Given the description of an element on the screen output the (x, y) to click on. 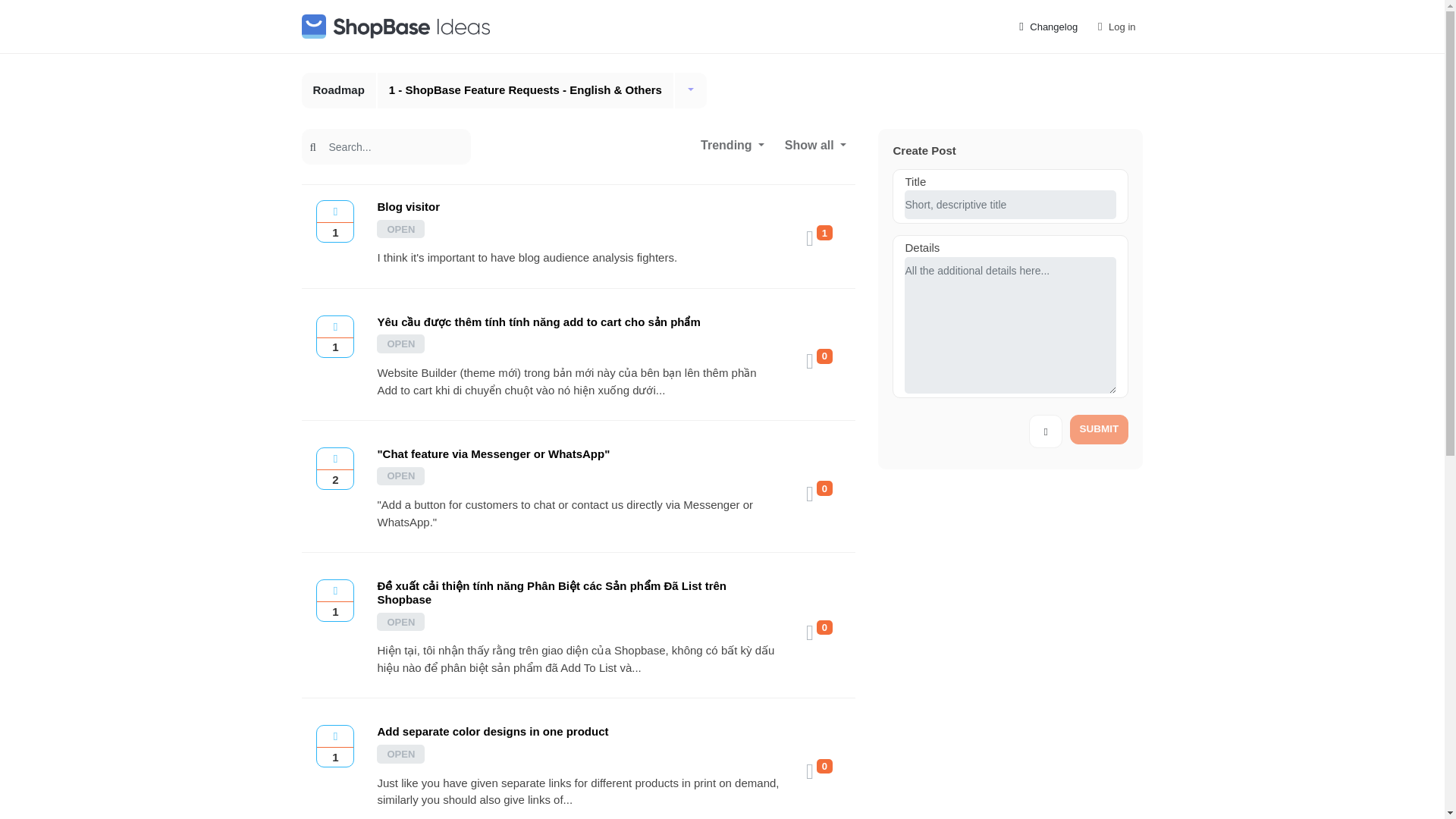
Show all (816, 144)
Roadmap (339, 90)
Roadmap (339, 90)
trending (733, 144)
Log in (1114, 26)
SUBMIT (1098, 428)
Changelog (1047, 26)
